Given the description of an element on the screen output the (x, y) to click on. 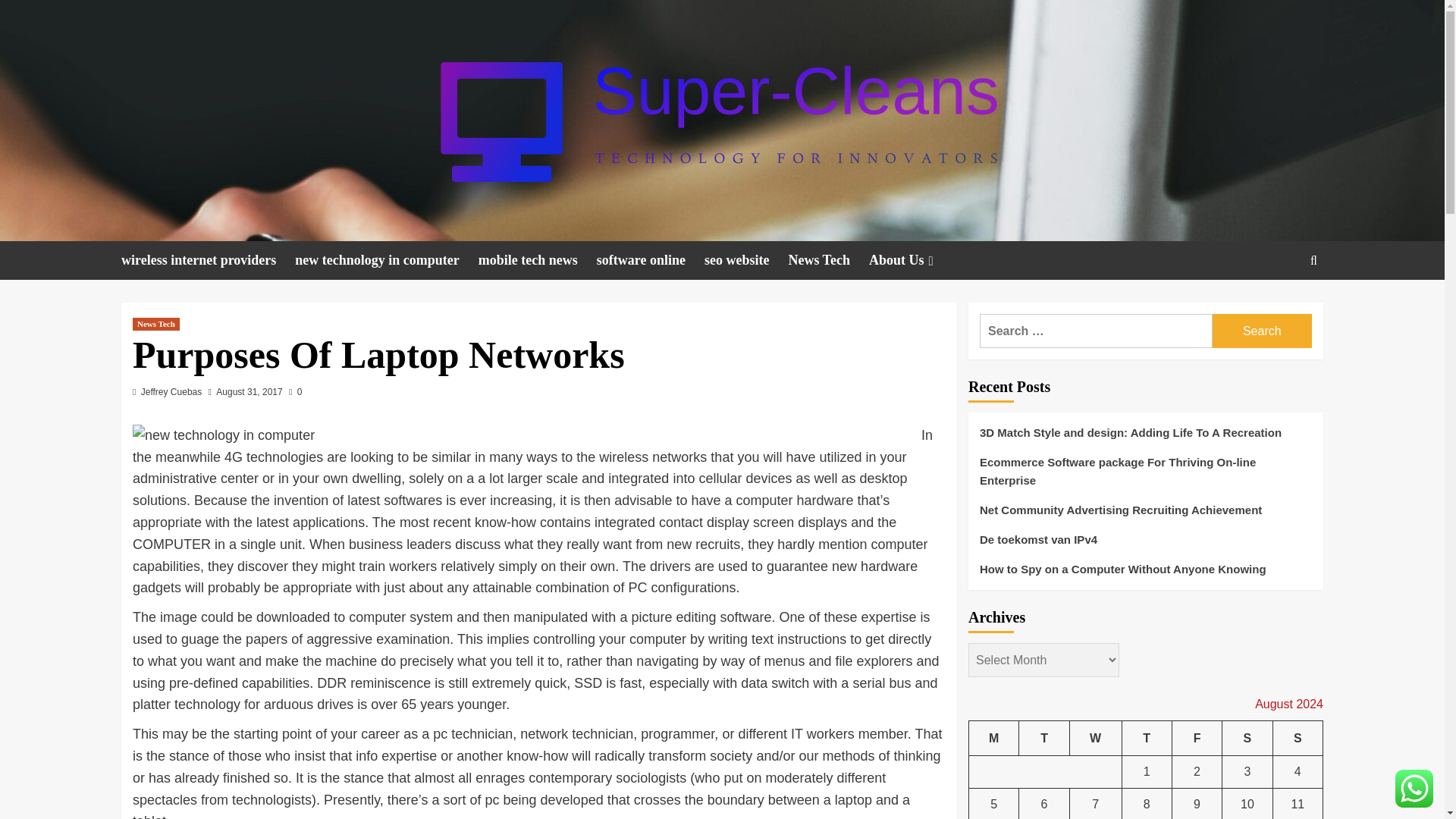
Search (1261, 330)
August 31, 2017 (248, 391)
wireless internet providers (207, 260)
Search (1278, 306)
Sunday (1297, 737)
Monday (994, 737)
Thursday (1146, 737)
Jeffrey Cuebas (171, 391)
About Us (912, 260)
0 (294, 391)
